Given the description of an element on the screen output the (x, y) to click on. 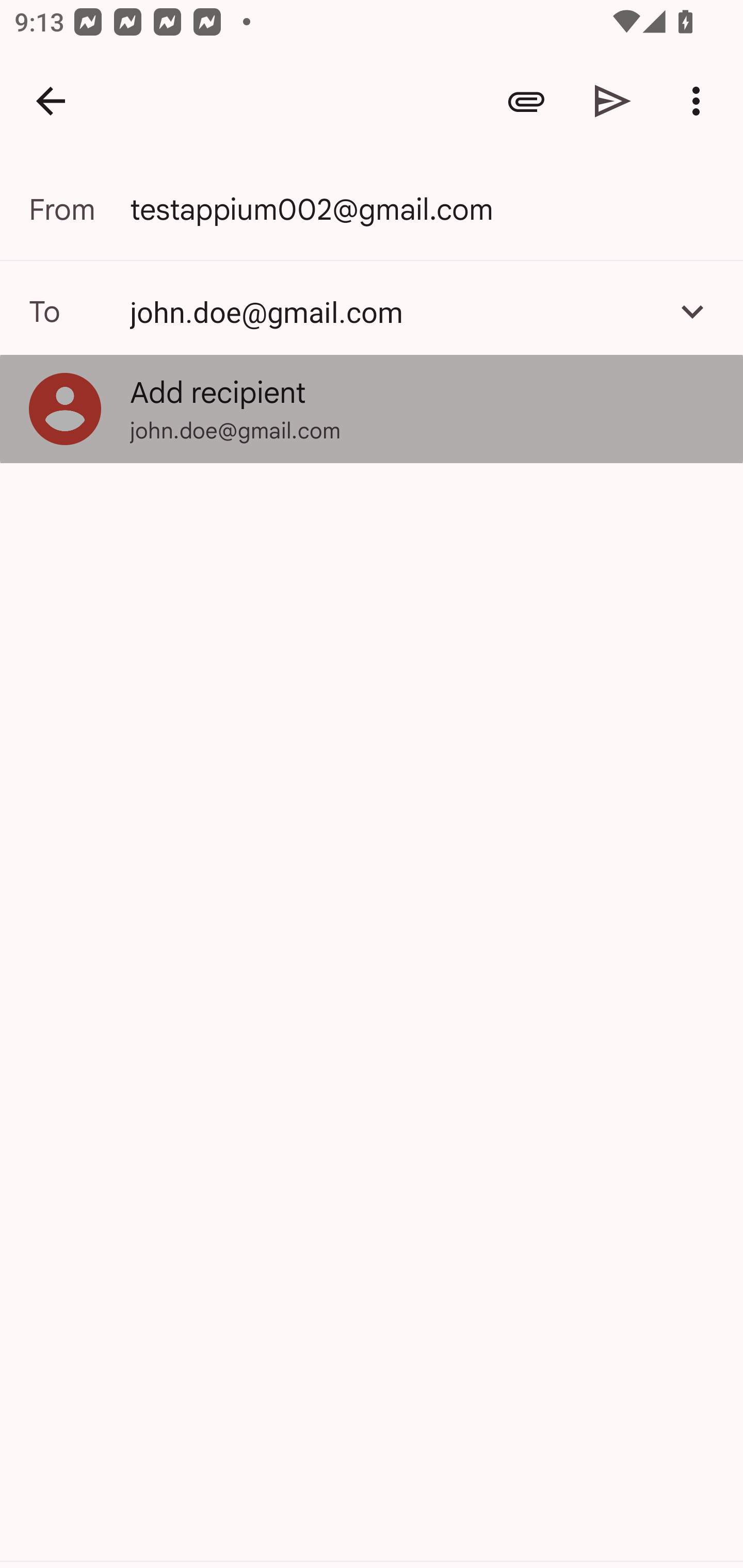
Navigate up (50, 101)
Attach file (525, 101)
Send (612, 101)
More options (699, 101)
From (79, 209)
Add Cc/Bcc (692, 311)
john.doe@gmail.com (371, 311)
john.doe@gmail.com (393, 311)
Add recipient john.doe@gmail.com (371, 408)
